Given the description of an element on the screen output the (x, y) to click on. 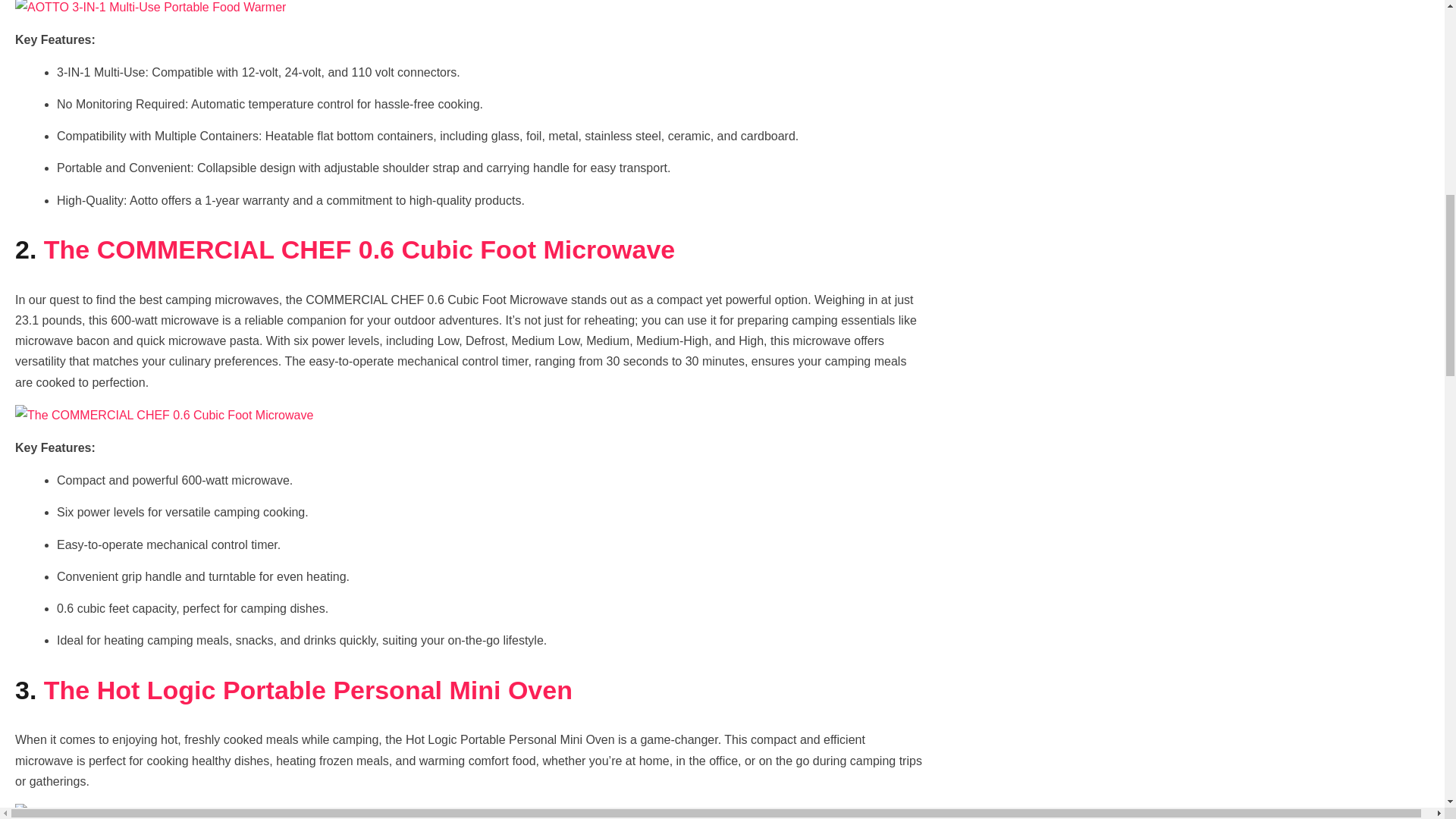
The Hot Logic Portable Personal Mini Oven (307, 689)
5 Best Camping Microwaves 4 (163, 414)
5 Best Camping Microwaves 3 (149, 8)
5 Best Camping Microwaves 5 (137, 811)
The COMMERCIAL CHEF 0.6 Cubic Foot Microwave (359, 249)
